Given the description of an element on the screen output the (x, y) to click on. 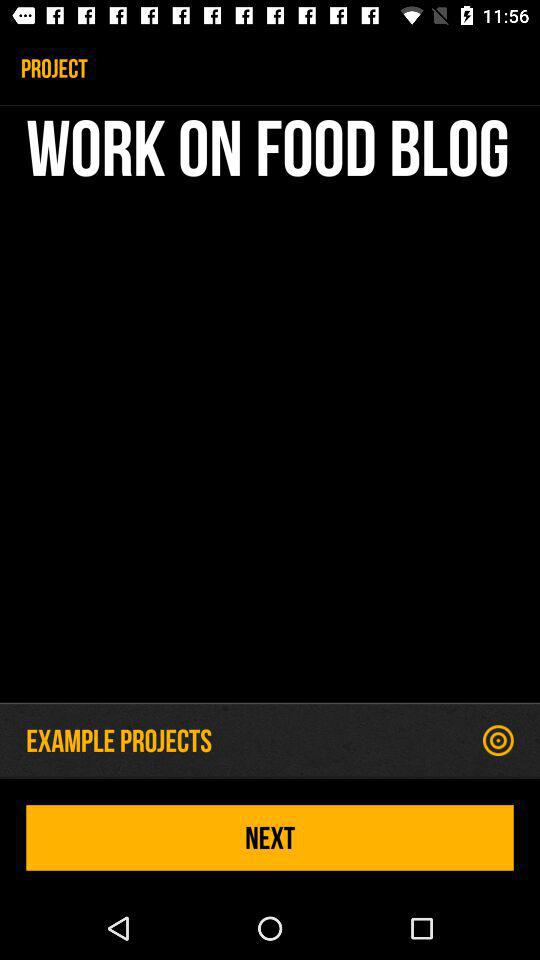
turn on item below example projects item (269, 837)
